Given the description of an element on the screen output the (x, y) to click on. 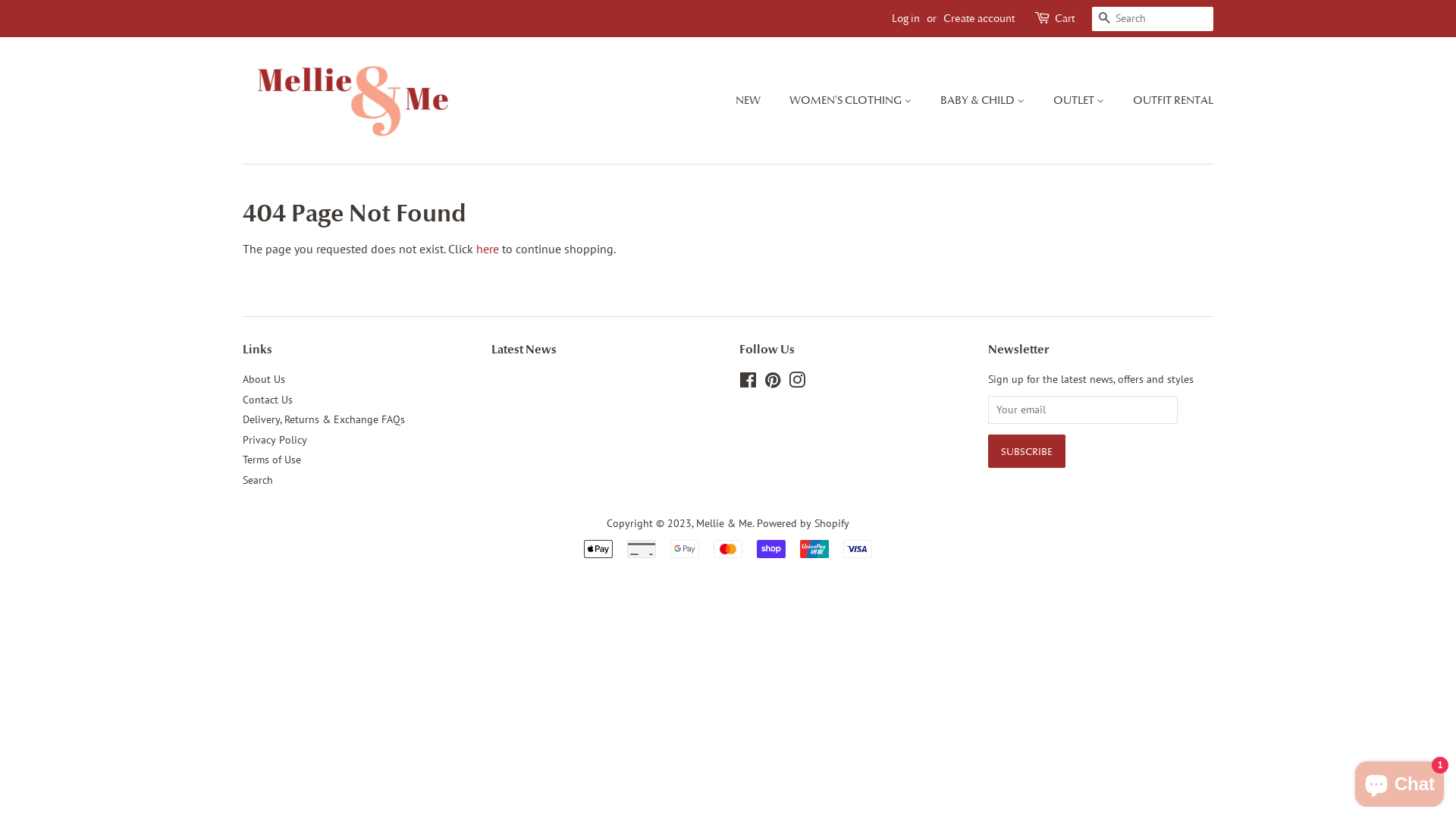
Log in Element type: text (905, 18)
here Element type: text (487, 248)
OUTLET Element type: text (1080, 100)
OUTFIT RENTAL Element type: text (1167, 100)
Shopify online store chat Element type: hover (1399, 780)
SEARCH Element type: text (1104, 18)
NEW Element type: text (755, 100)
Facebook Element type: text (747, 382)
Pinterest Element type: text (772, 382)
Contact Us Element type: text (267, 399)
Subscribe Element type: text (1025, 450)
Powered by Shopify Element type: text (802, 523)
Terms of Use Element type: text (271, 459)
Search Element type: text (257, 479)
Create account Element type: text (978, 18)
BABY & CHILD Element type: text (983, 100)
Delivery, Returns & Exchange FAQs Element type: text (323, 419)
Mellie & Me Element type: text (724, 523)
Privacy Policy Element type: text (274, 438)
Cart Element type: text (1064, 18)
WOMEN'S CLOTHING Element type: text (852, 100)
Instagram Element type: text (796, 382)
About Us Element type: text (263, 378)
Latest News Element type: text (523, 349)
